Given the description of an element on the screen output the (x, y) to click on. 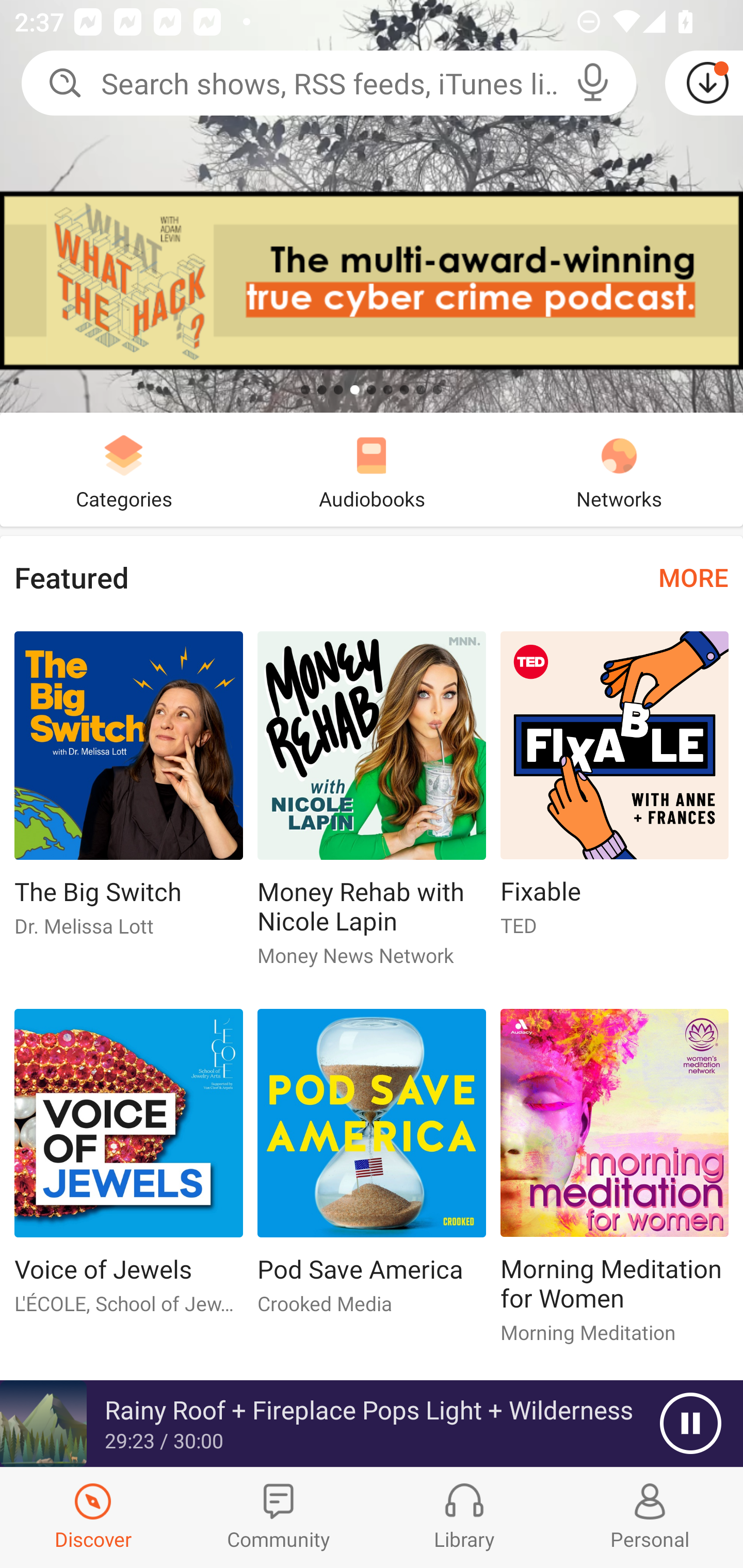
Categories (123, 469)
Audiobooks (371, 469)
Networks (619, 469)
MORE (693, 576)
The Big Switch The Big Switch Dr. Melissa Lott (128, 792)
Fixable Fixable TED (614, 792)
Pod Save America Pod Save America Crooked Media (371, 1169)
Pause (690, 1423)
Discover (92, 1517)
Community (278, 1517)
Library (464, 1517)
Profiles and Settings Personal (650, 1517)
